Given the description of an element on the screen output the (x, y) to click on. 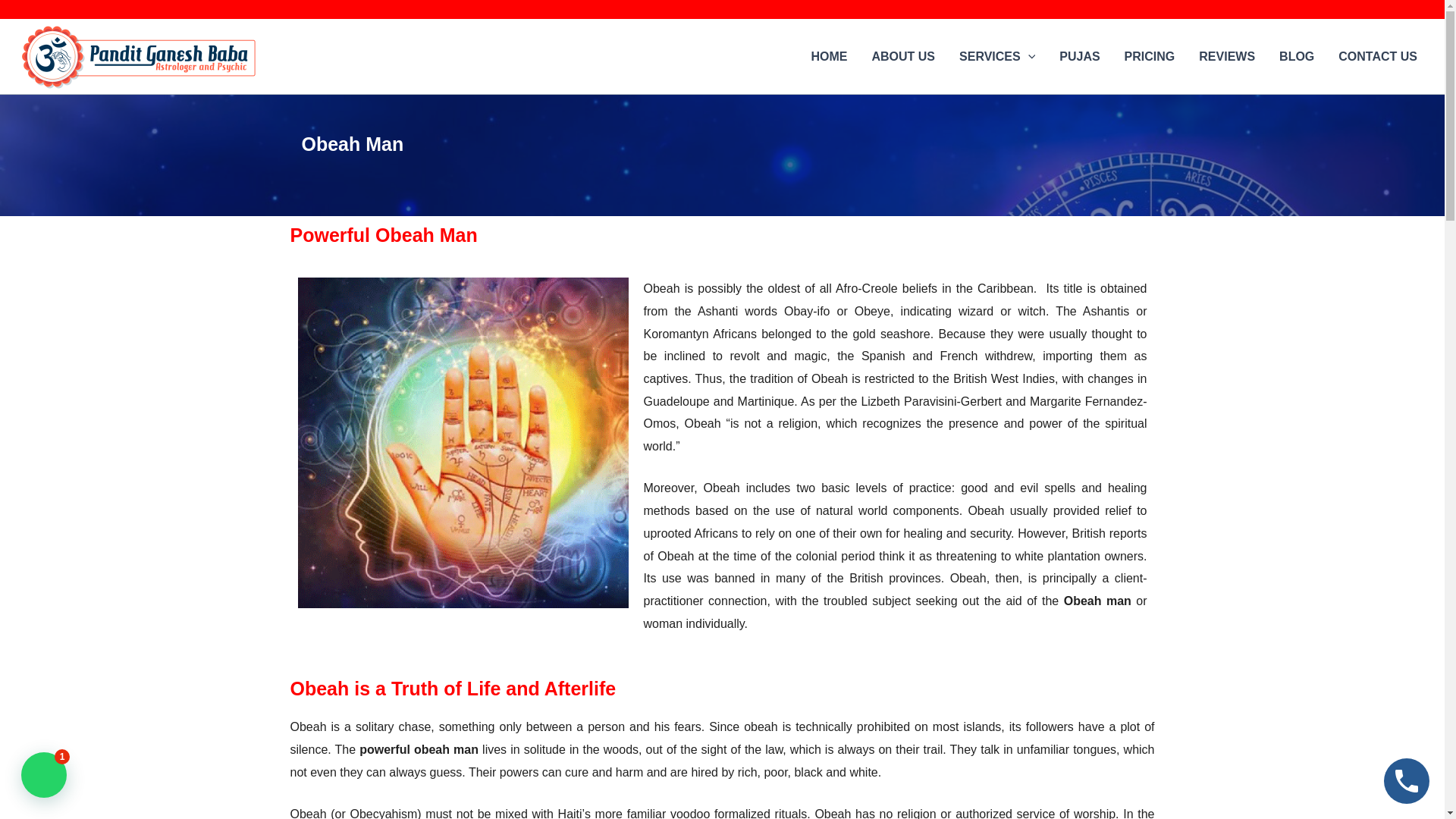
REVIEWS (1226, 55)
BLOG (1296, 55)
CONTACT US (1377, 55)
PUJAS (1079, 55)
PRICING (1150, 55)
HOME (828, 55)
ABOUT US (903, 55)
SERVICES (996, 55)
